Given the description of an element on the screen output the (x, y) to click on. 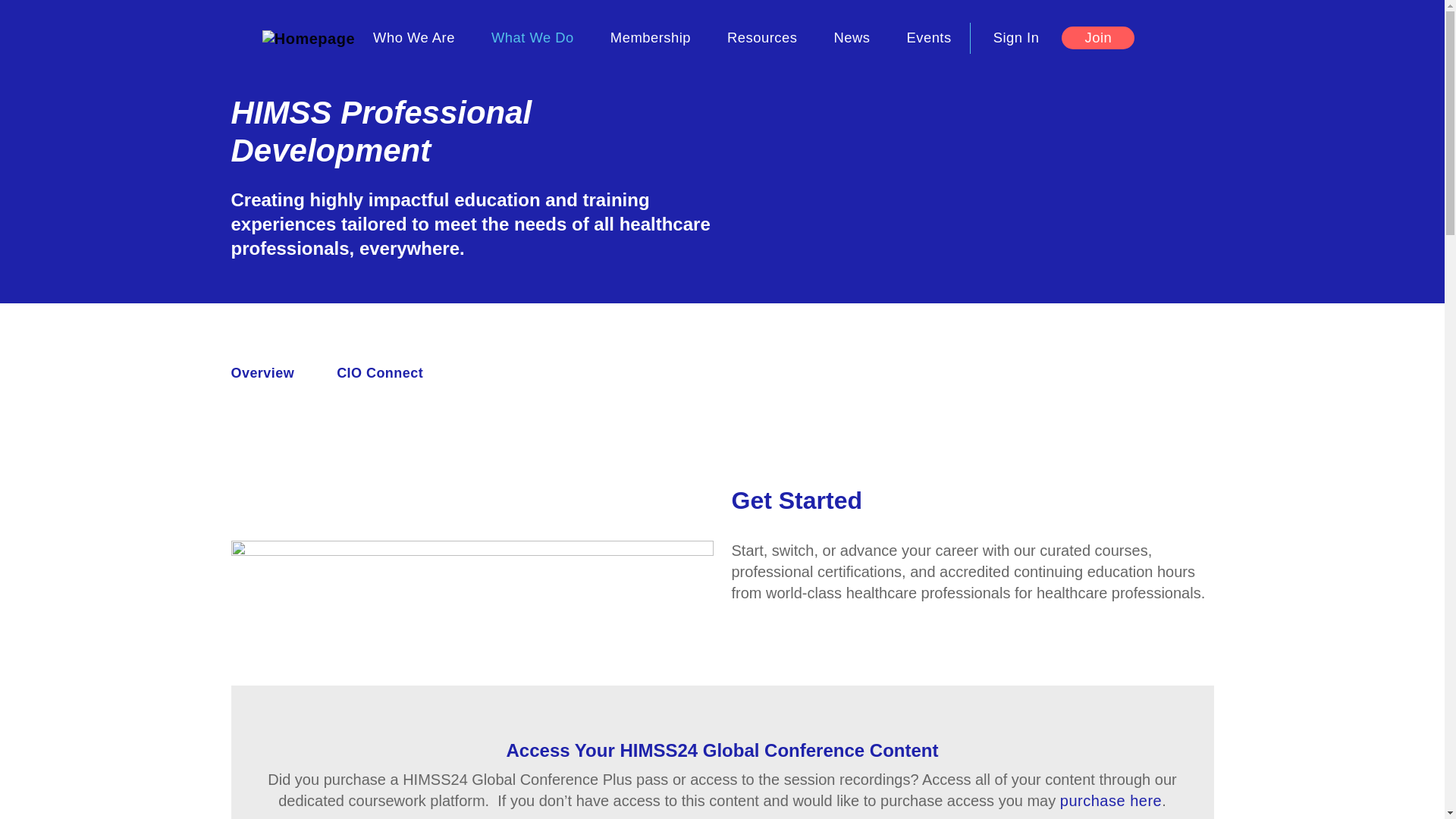
Who We Are (413, 38)
Membership (650, 38)
What We Do (531, 38)
Himss.org (308, 37)
Resources (761, 38)
